Given the description of an element on the screen output the (x, y) to click on. 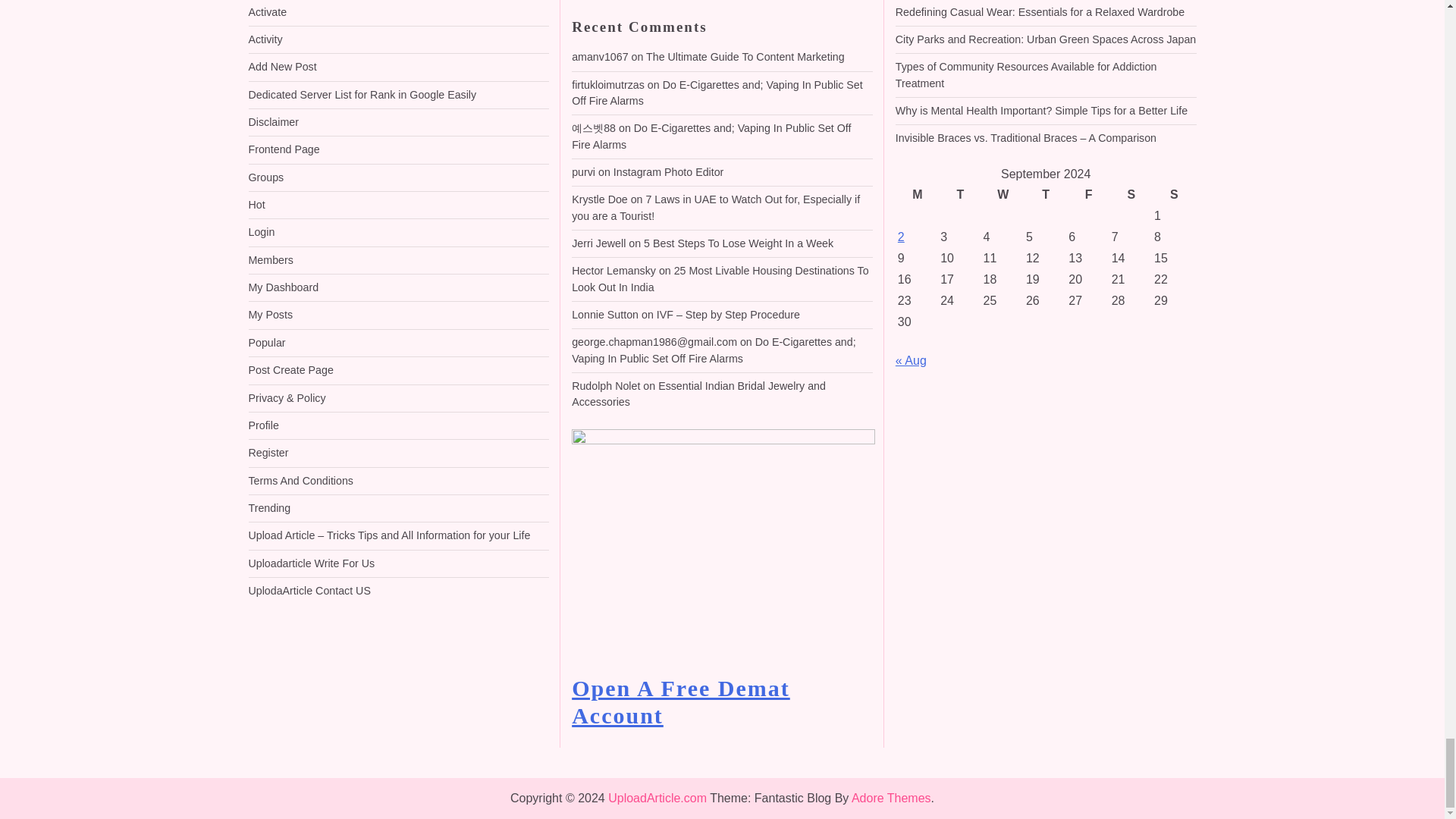
Monday (916, 194)
Thursday (1045, 194)
Tuesday (959, 194)
Friday (1087, 194)
Sunday (1173, 194)
Wednesday (1002, 194)
Saturday (1130, 194)
